Given the description of an element on the screen output the (x, y) to click on. 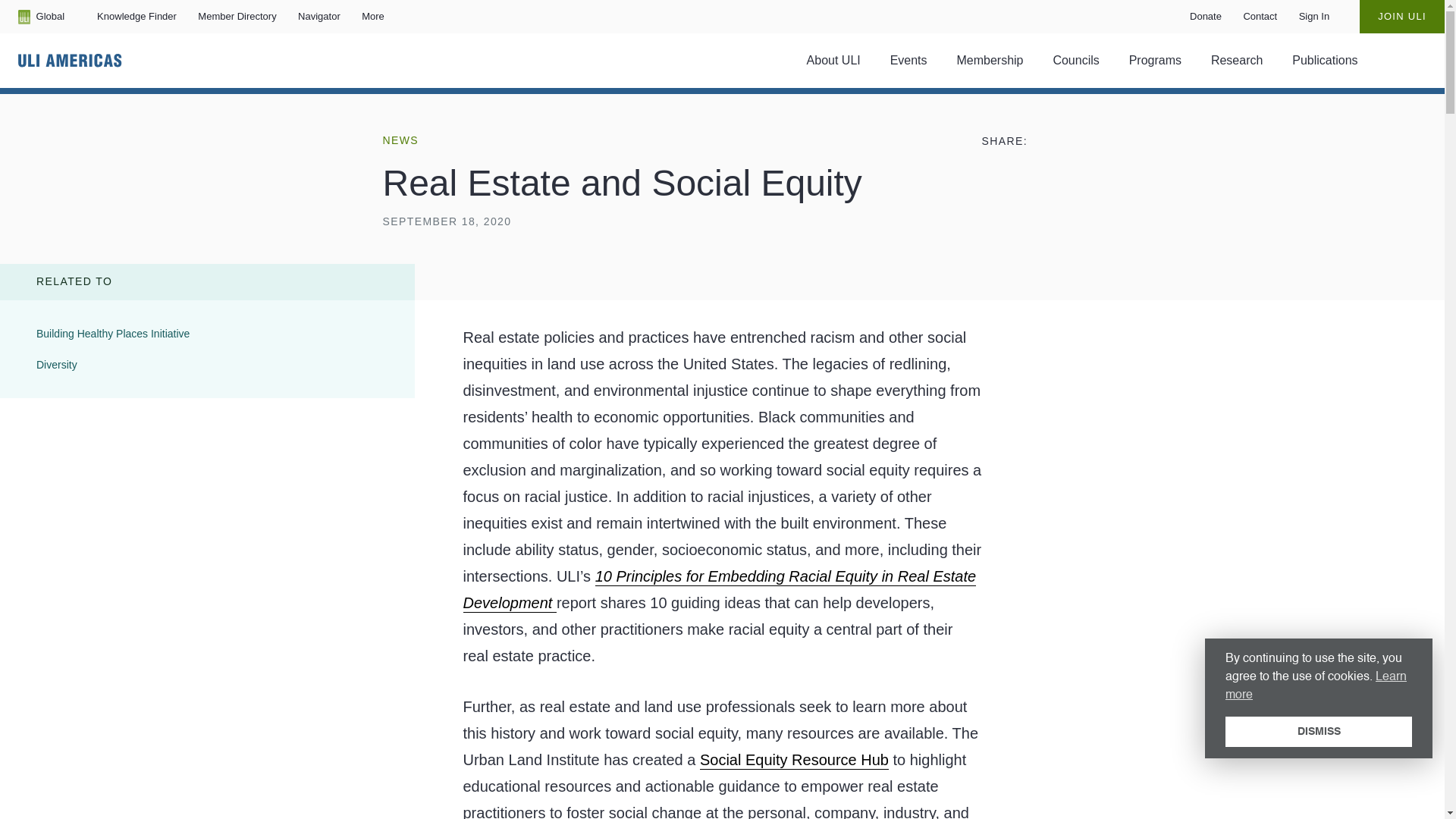
Knowledge Finder (136, 16)
Donate (1205, 16)
Global (40, 16)
Navigator (319, 16)
Member Directory (835, 60)
Contact (237, 16)
More (1259, 16)
Sign In (374, 16)
